Given the description of an element on the screen output the (x, y) to click on. 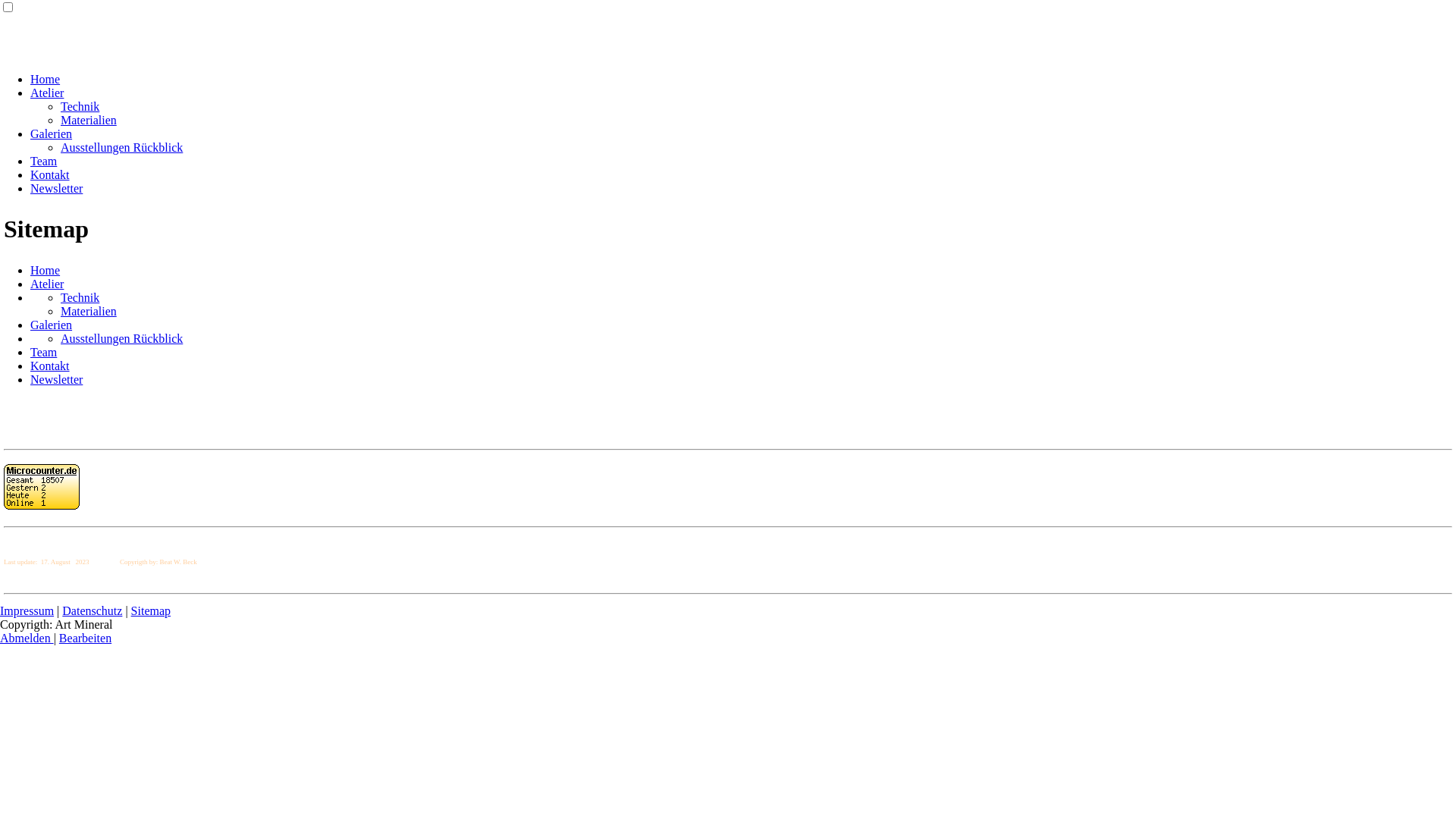
Datenschutz Element type: text (92, 610)
Abmelden Element type: text (26, 637)
Galerien Element type: text (51, 324)
Technik Element type: text (79, 297)
Technik Element type: text (79, 106)
Kontakt Element type: text (49, 174)
Kontakt Element type: text (49, 365)
Team Element type: text (43, 160)
Materialien Element type: text (88, 310)
Sitemap Element type: text (150, 610)
Impressum Element type: text (26, 610)
Materialien Element type: text (88, 119)
Besucherzaehler Element type: hover (41, 486)
Newsletter Element type: text (56, 188)
Home Element type: text (44, 269)
Home Element type: text (44, 78)
Newsletter Element type: text (56, 379)
Atelier Element type: text (46, 92)
Galerien Element type: text (51, 133)
Bearbeiten Element type: text (85, 637)
Atelier Element type: text (46, 283)
Team Element type: text (43, 351)
